Given the description of an element on the screen output the (x, y) to click on. 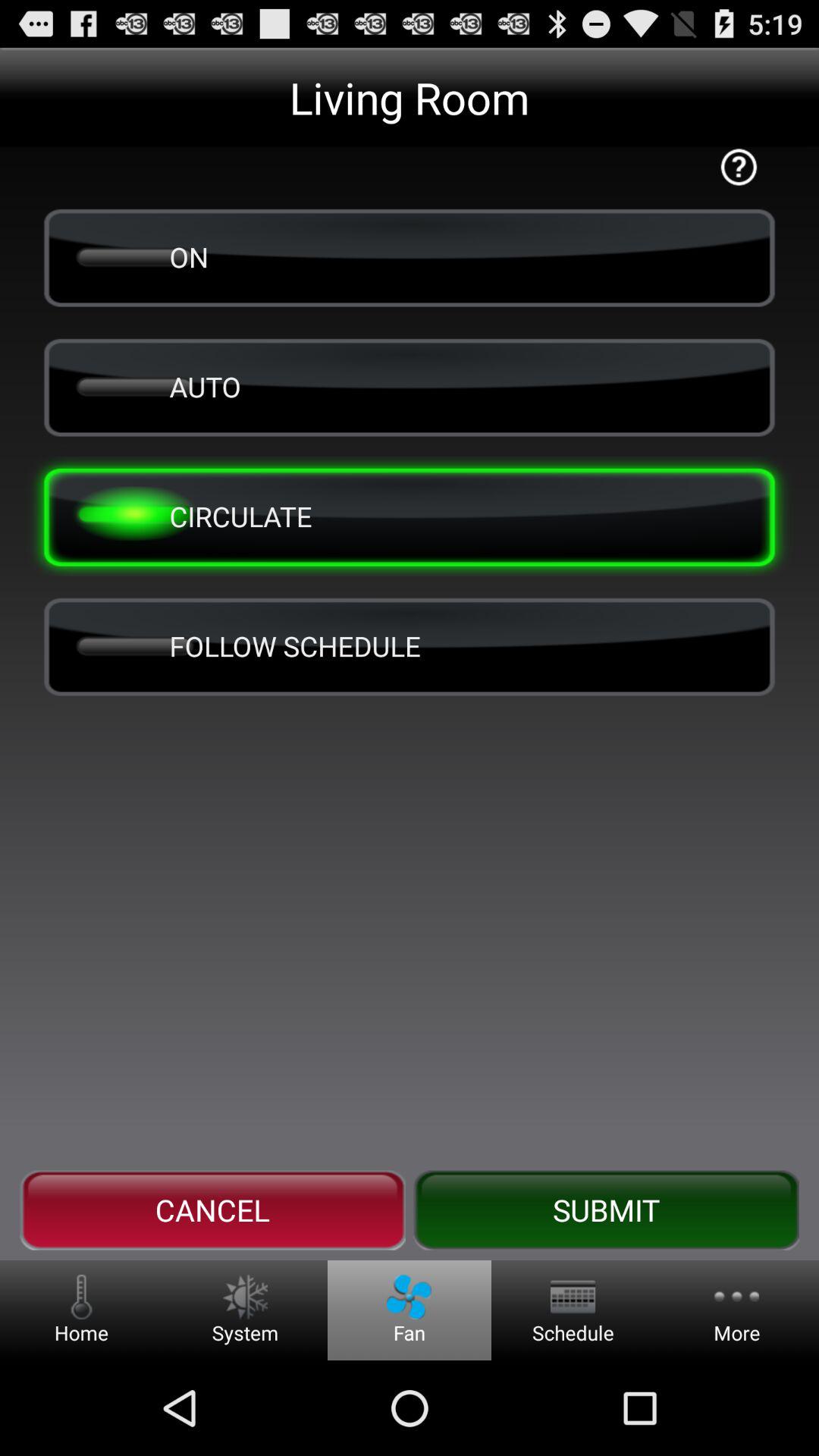
choose button above the cancel (409, 645)
